Given the description of an element on the screen output the (x, y) to click on. 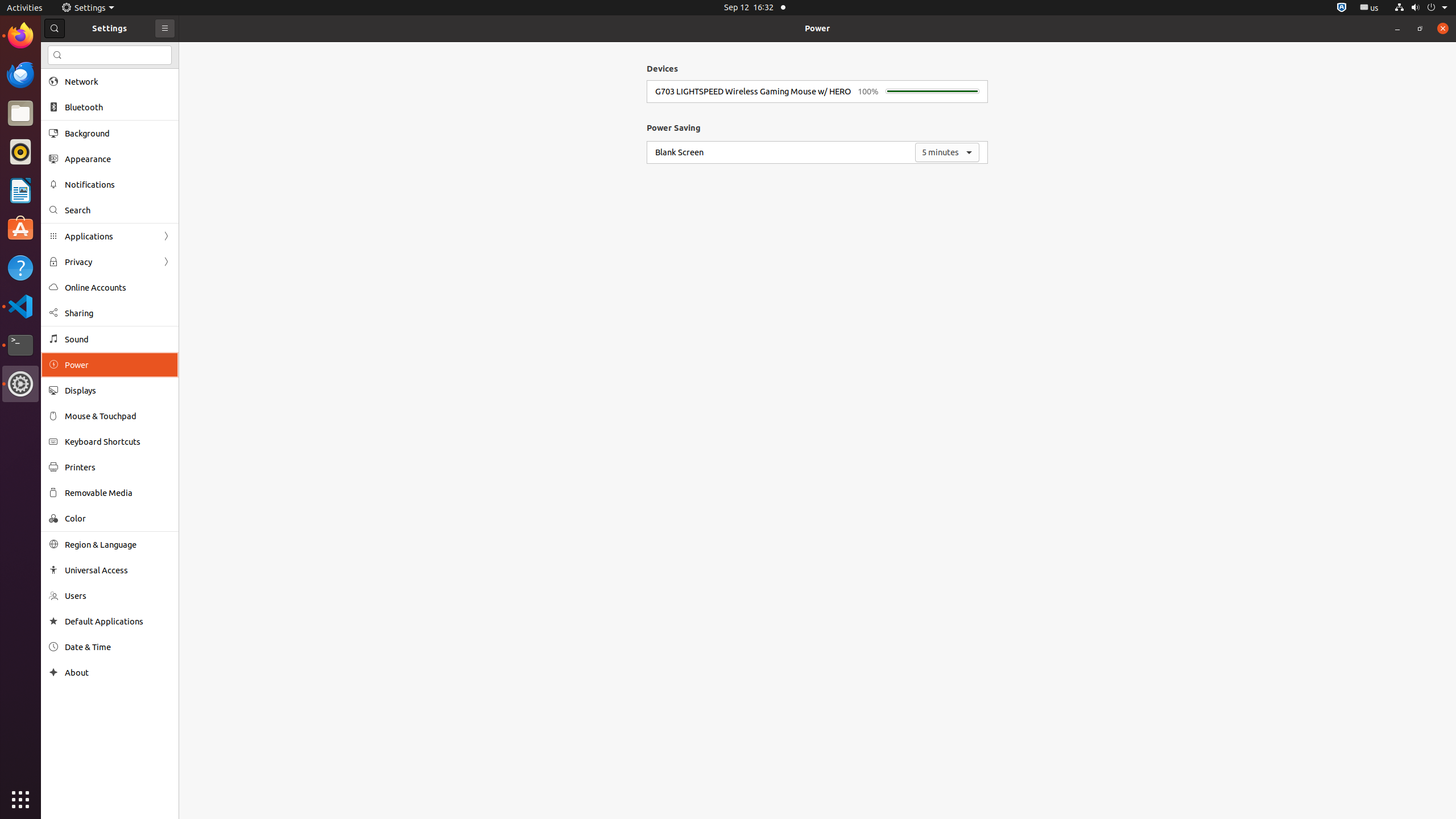
Sound Element type: label (117, 339)
Color Element type: label (117, 518)
IsaHelpMain.desktop Element type: label (75, 170)
Region & Language Element type: label (117, 544)
Search Element type: label (117, 209)
